Given the description of an element on the screen output the (x, y) to click on. 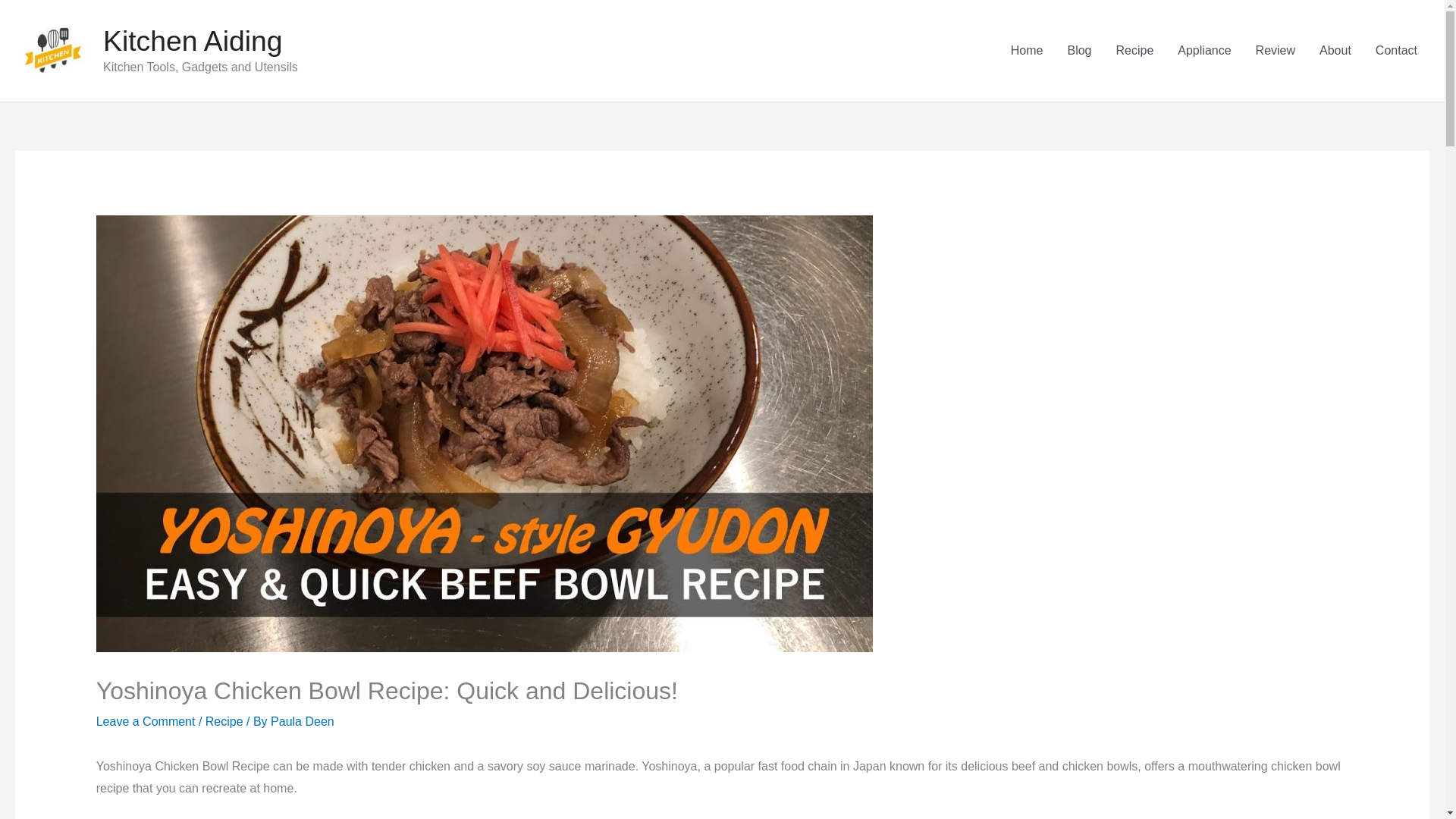
Paula Deen (302, 721)
View all posts by Paula Deen (302, 721)
Recipe (224, 721)
Leave a Comment (145, 721)
Kitchen Aiding (192, 40)
